Given the description of an element on the screen output the (x, y) to click on. 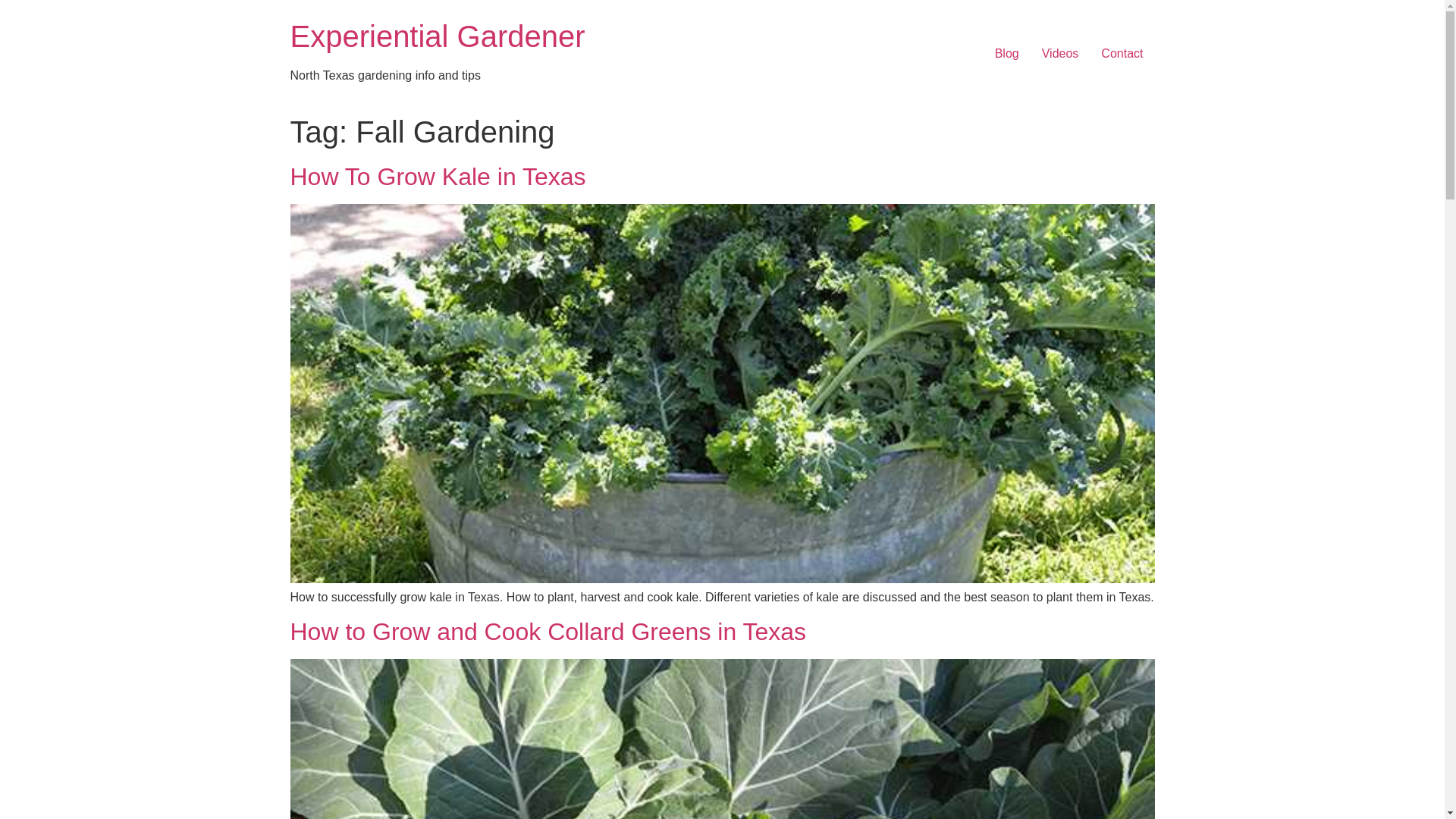
Videos (1060, 53)
How To Grow Kale in Texas (437, 176)
Blog (1007, 53)
How to Grow and Cook Collard Greens in Texas (547, 631)
Home (437, 36)
Experiential Gardener (437, 36)
Contact (1121, 53)
